Given the description of an element on the screen output the (x, y) to click on. 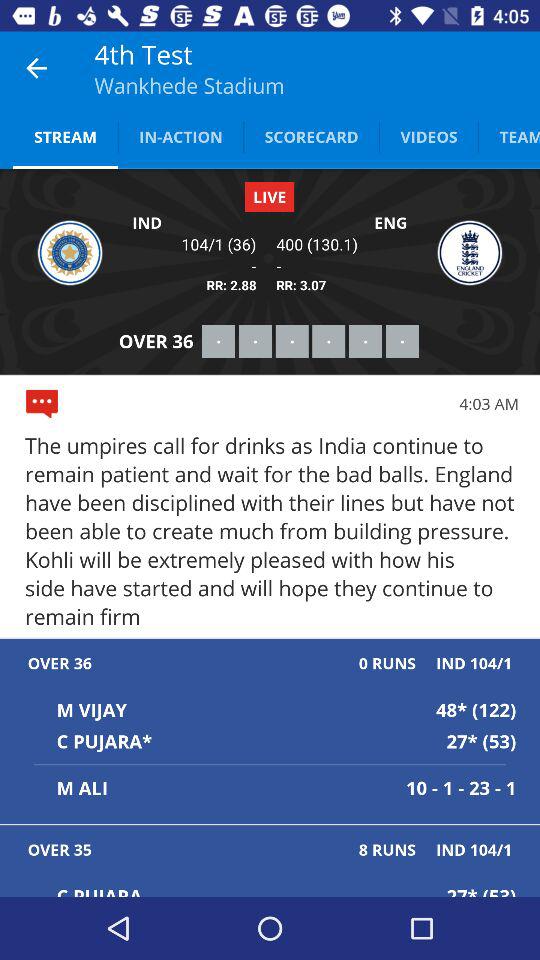
open the icon to the left of teams icon (428, 136)
